Given the description of an element on the screen output the (x, y) to click on. 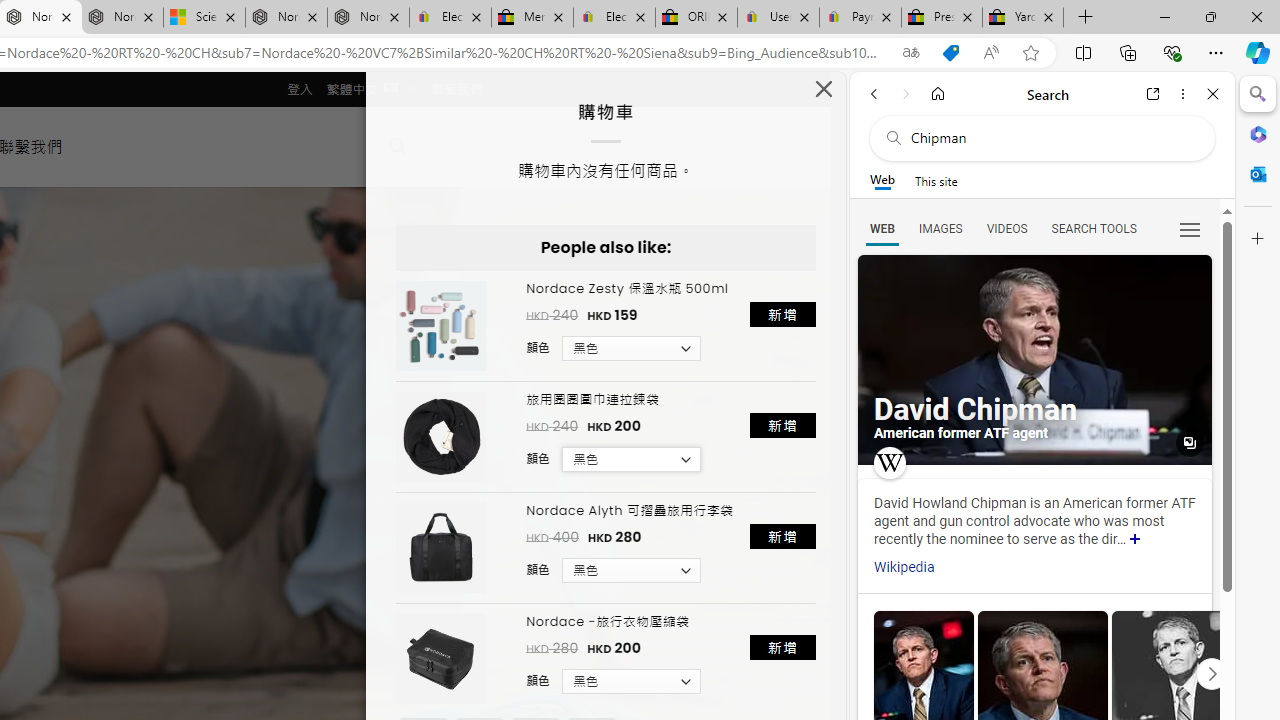
WEB   (882, 228)
This site scope (936, 180)
SEARCH TOOLS (1093, 228)
Copilot (Ctrl+Shift+.) (1258, 52)
Split screen (1083, 52)
This site has coupons! Shopping in Microsoft Edge (950, 53)
Close (Esc) (824, 93)
All images (1034, 359)
IMAGES (939, 228)
Class: feather feather-x (824, 88)
Add this page to favorites (Ctrl+D) (1030, 53)
